Given the description of an element on the screen output the (x, y) to click on. 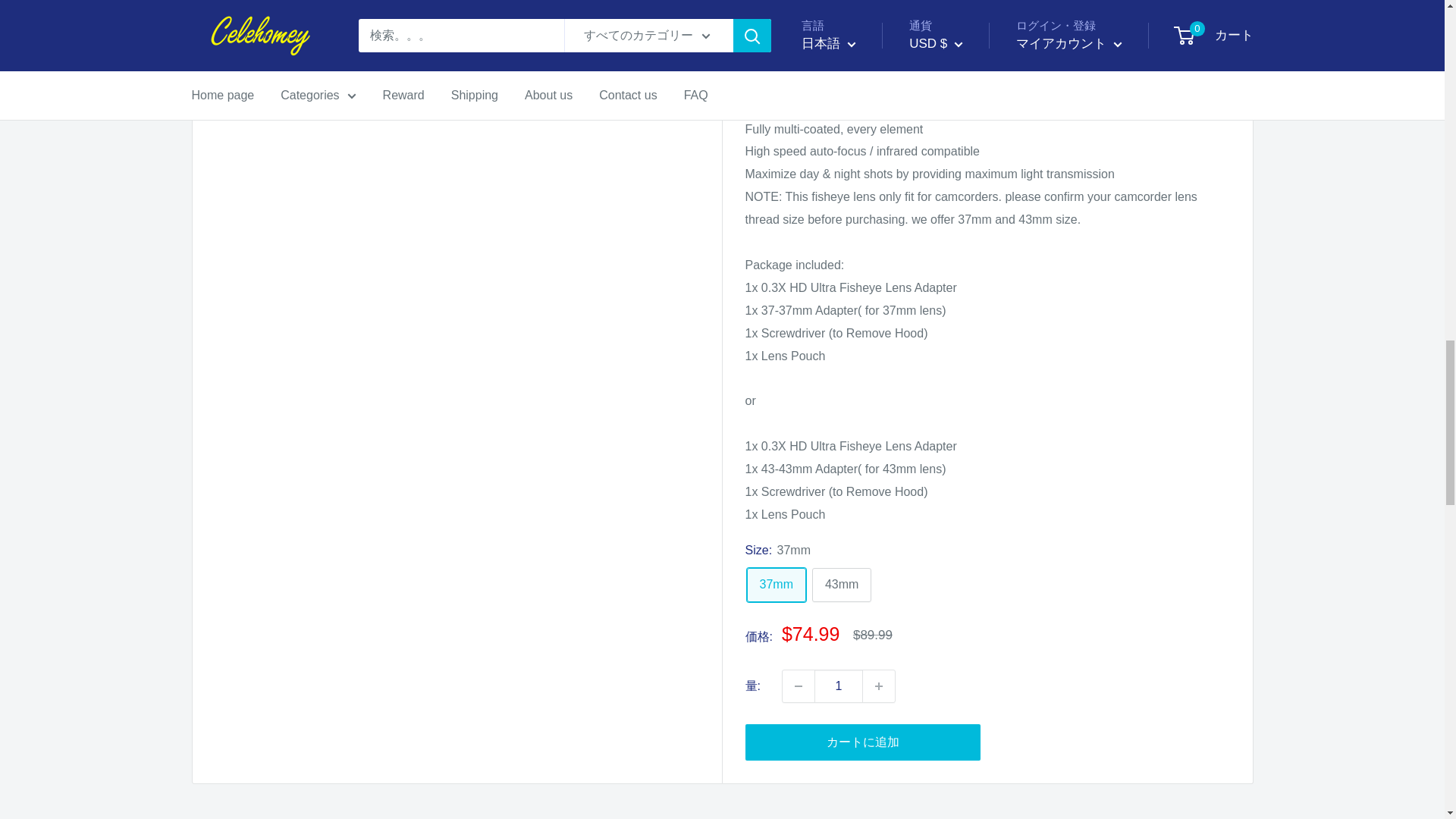
37mm (775, 584)
1 (838, 685)
43mm (841, 584)
